Given the description of an element on the screen output the (x, y) to click on. 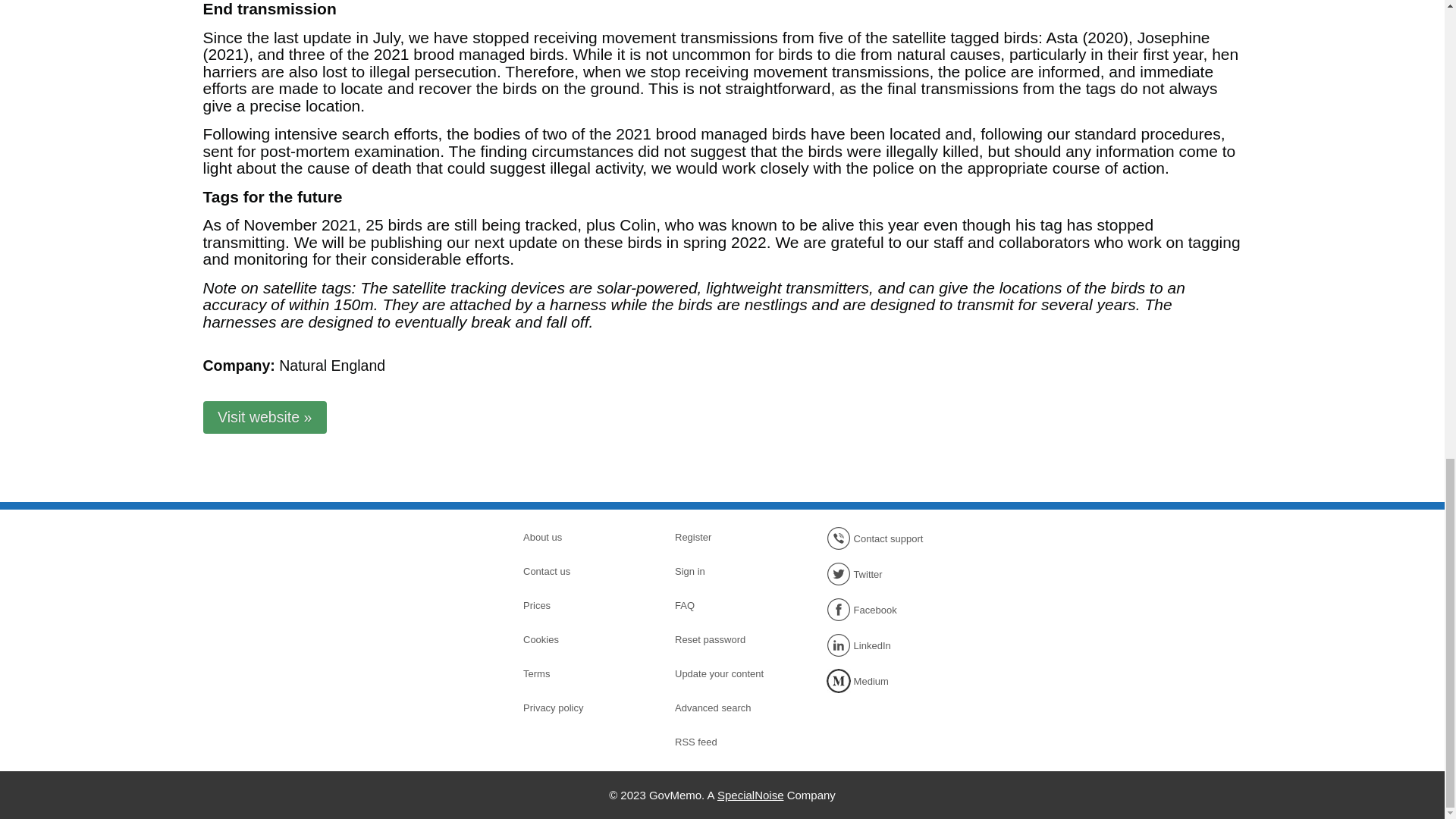
Prices (575, 605)
Reset password (727, 639)
About us (575, 537)
FAQ (727, 605)
Register (727, 537)
Terms (575, 673)
RSS feed (727, 742)
Cookies (575, 639)
Contact us (575, 571)
Privacy policy (575, 707)
Update your content (727, 673)
Twitter (880, 573)
Contact support (880, 538)
Sign in (727, 571)
Advanced search (727, 707)
